Given the description of an element on the screen output the (x, y) to click on. 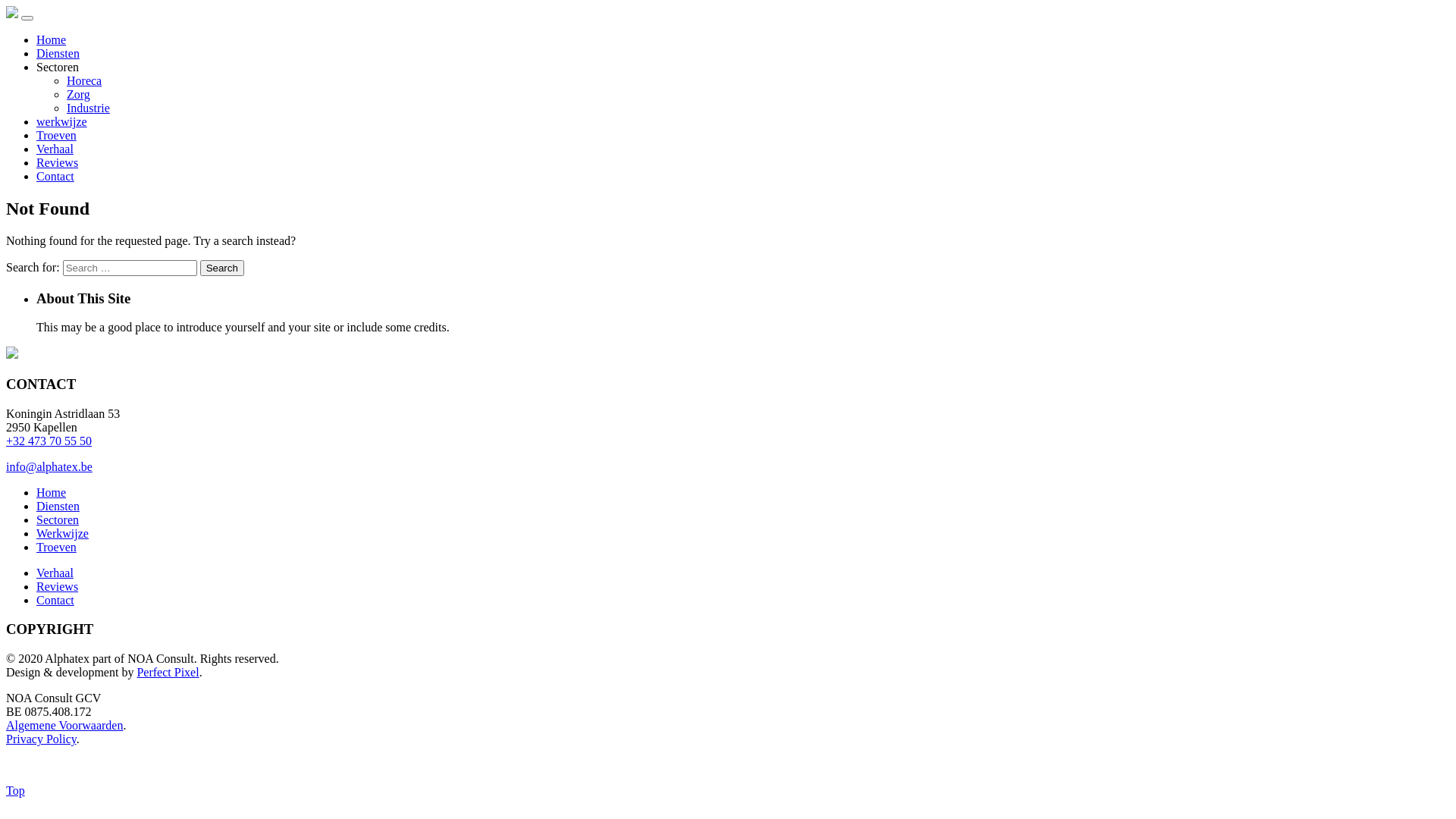
Verhaal Element type: text (54, 148)
+32 473 70 55 50 Element type: text (48, 440)
Zorg Element type: text (78, 93)
Industrie Element type: text (87, 107)
Reviews Element type: text (57, 586)
Contact Element type: text (55, 175)
Troeven Element type: text (56, 546)
Werkwijze Element type: text (62, 533)
Horeca Element type: text (83, 80)
Sectoren Element type: text (57, 519)
Perfect Pixel Element type: text (167, 671)
info@alphatex.be Element type: text (49, 466)
Search Element type: text (222, 268)
Contact Element type: text (55, 599)
Troeven Element type: text (56, 134)
Privacy Policy Element type: text (41, 738)
Home Element type: text (50, 39)
Top Element type: text (15, 790)
Algemene Voorwaarden Element type: text (64, 724)
Verhaal Element type: text (54, 572)
Reviews Element type: text (57, 162)
Diensten Element type: text (57, 505)
Diensten Element type: text (57, 53)
Home Element type: text (50, 492)
werkwijze Element type: text (61, 121)
